Given the description of an element on the screen output the (x, y) to click on. 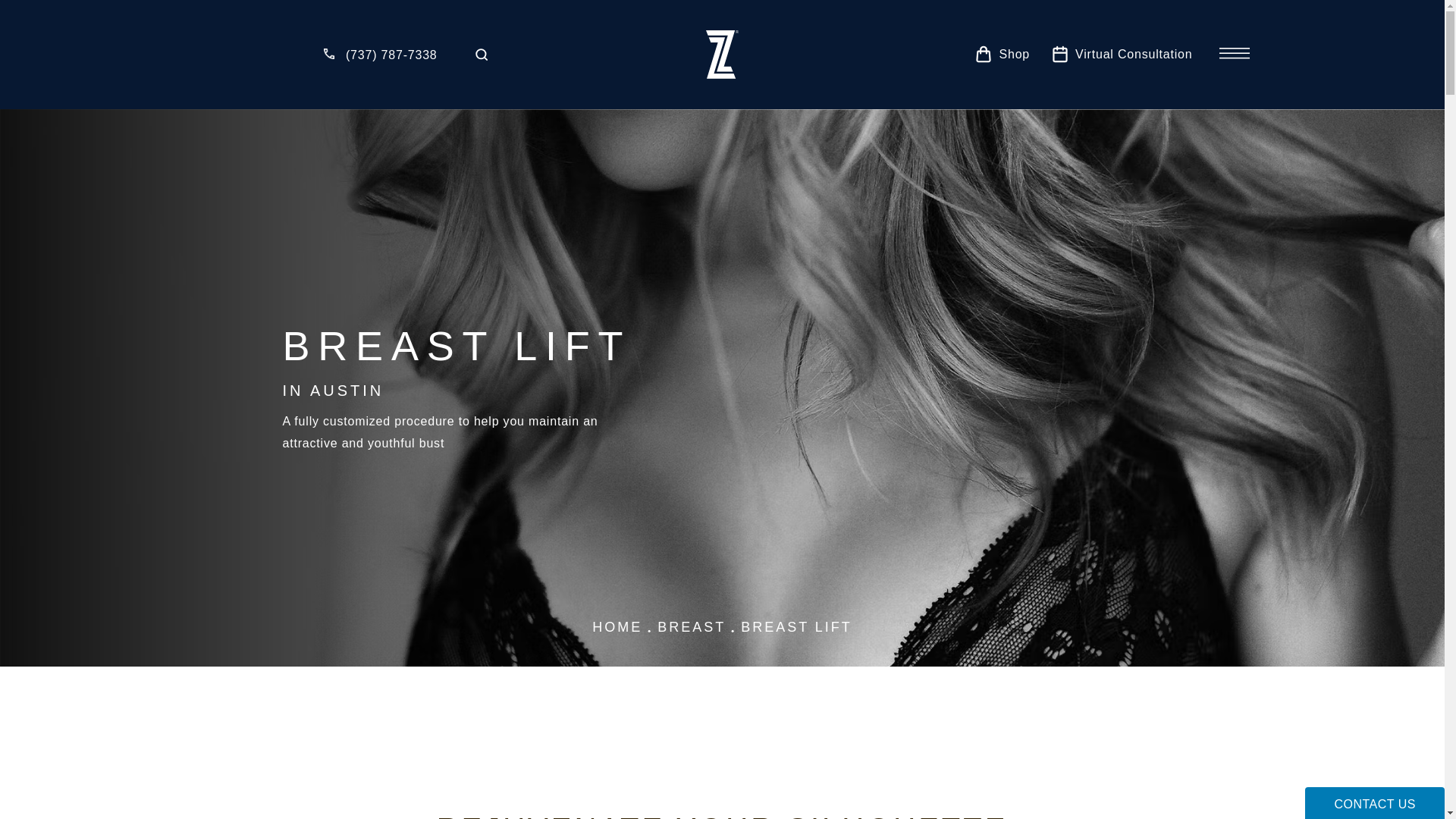
The Piazza Center on Tiktok (253, 54)
Open search bar (480, 54)
Virtual Consultation (1122, 54)
Shop (1002, 54)
The Piazza Center on Facebook (283, 54)
The Piazza Center on Instagram (223, 54)
